Given the description of an element on the screen output the (x, y) to click on. 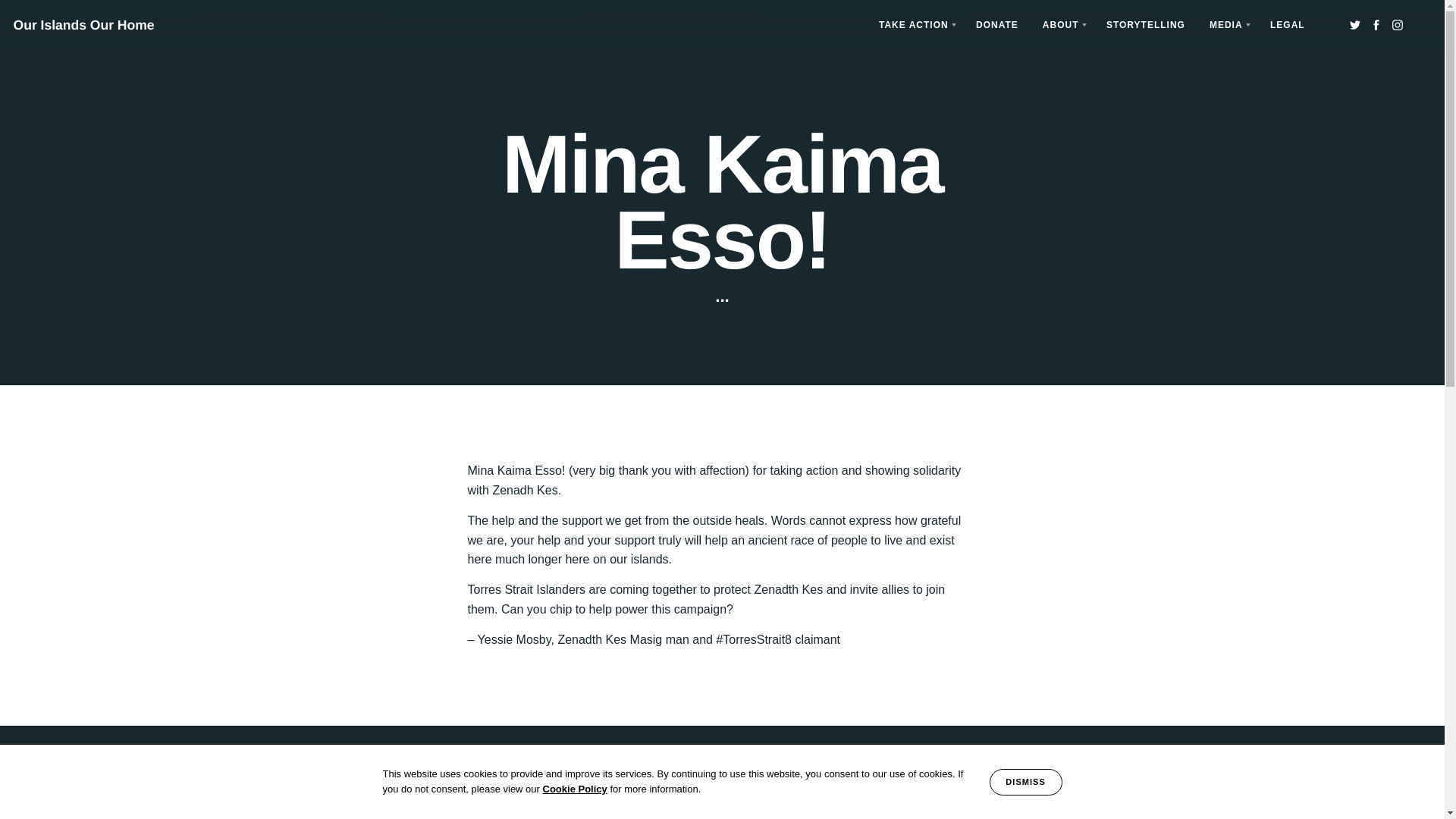
Cookie Policy (575, 788)
ABOUT (1062, 25)
LEGAL (1287, 25)
Our Islands Our Home (83, 25)
MEDIA (1226, 25)
DISMISS (1026, 782)
Insta (1397, 25)
Facebook (1376, 25)
STORYTELLING (1145, 25)
Twitter (1354, 25)
